Given the description of an element on the screen output the (x, y) to click on. 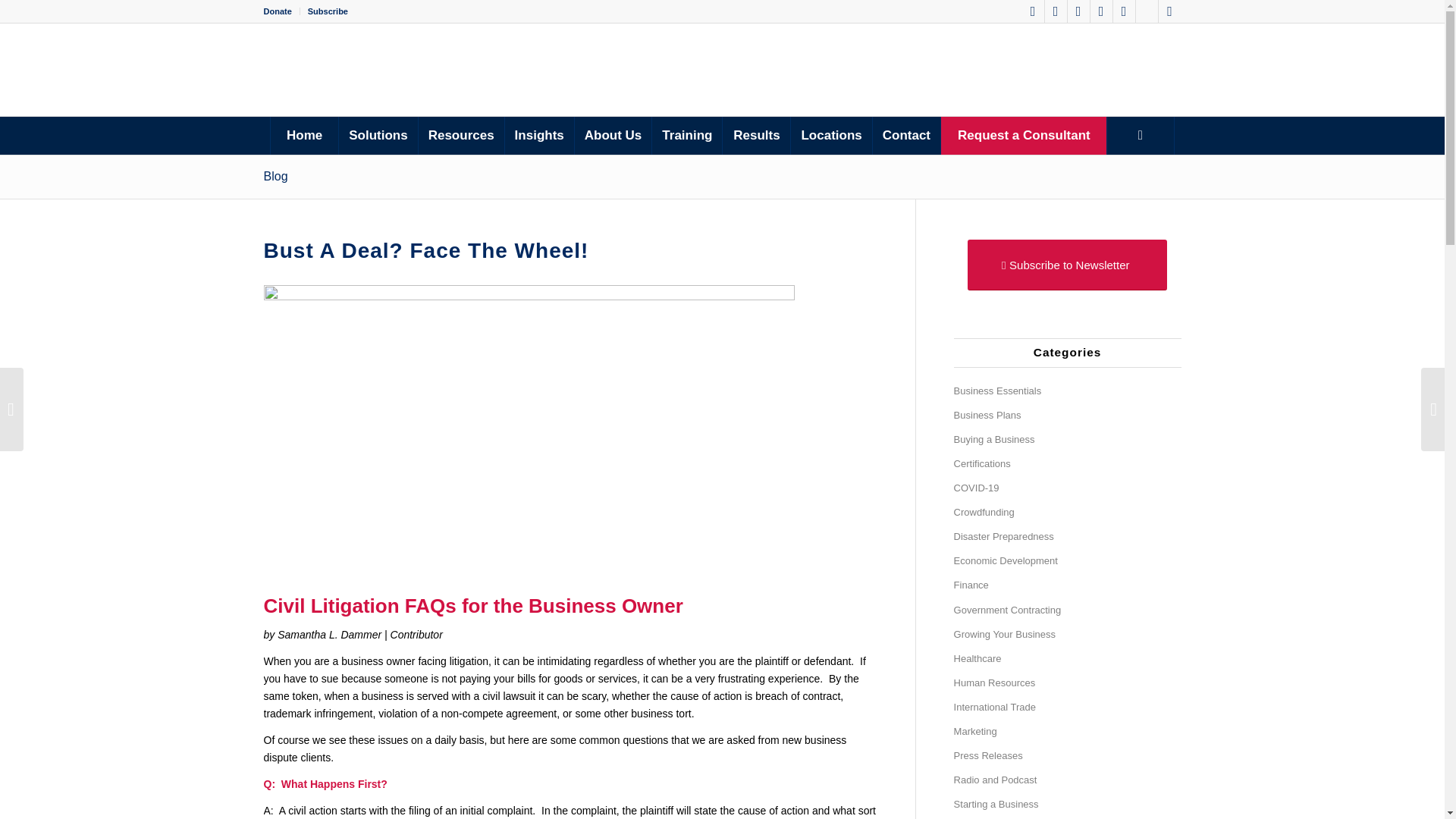
LinkedIn (1101, 11)
About Us (612, 135)
Permanent Link: Blog (275, 175)
Flickr (1124, 11)
Solutions (376, 135)
X (1078, 11)
Slideshare (1146, 11)
Facebook (1032, 11)
Donate (277, 11)
Rss (1169, 11)
Home (303, 135)
Resources (460, 135)
Youtube (1056, 11)
Insights (538, 135)
Subscribe (327, 11)
